Given the description of an element on the screen output the (x, y) to click on. 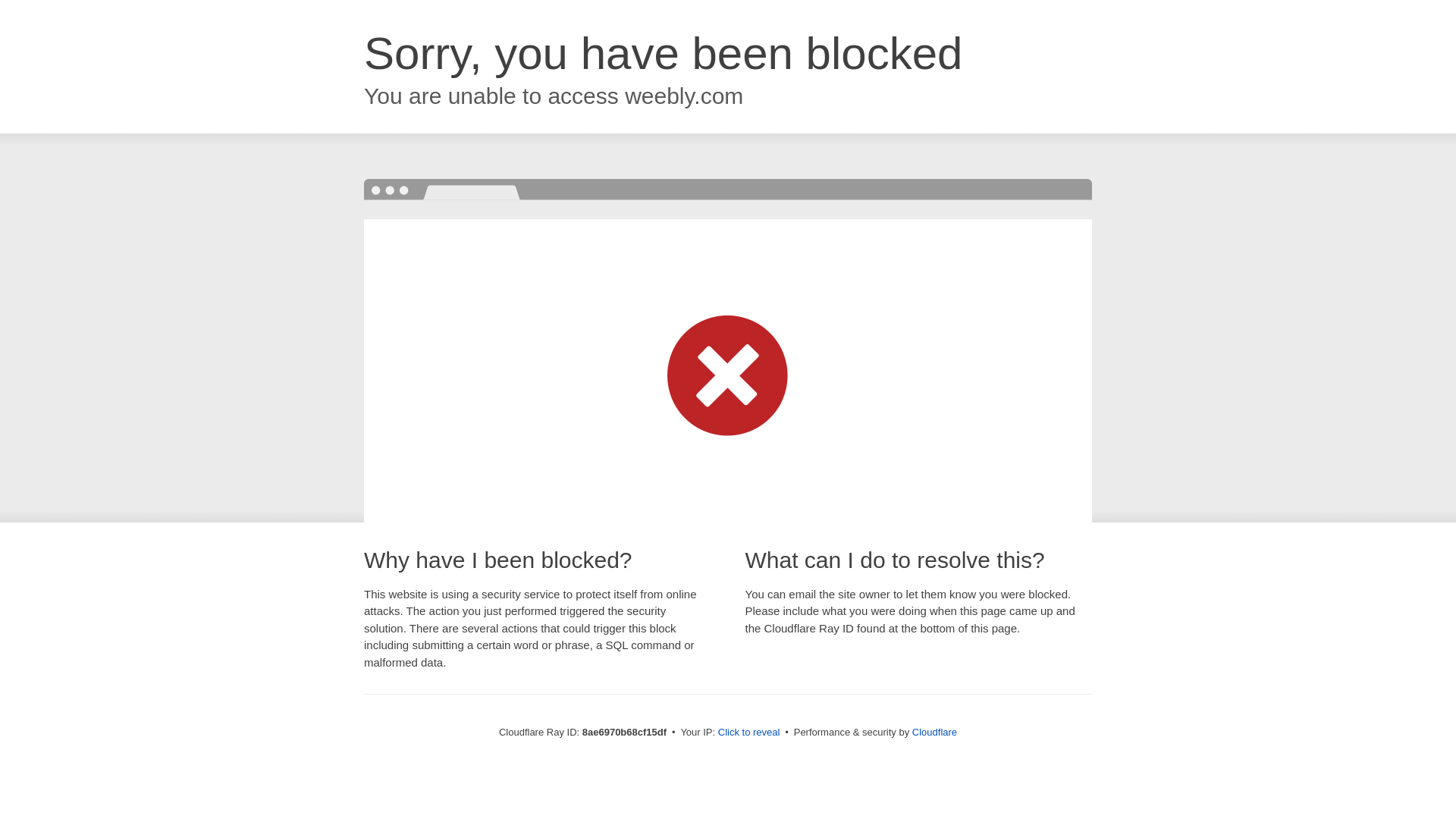
Click to reveal (748, 732)
Cloudflare (934, 731)
